Given the description of an element on the screen output the (x, y) to click on. 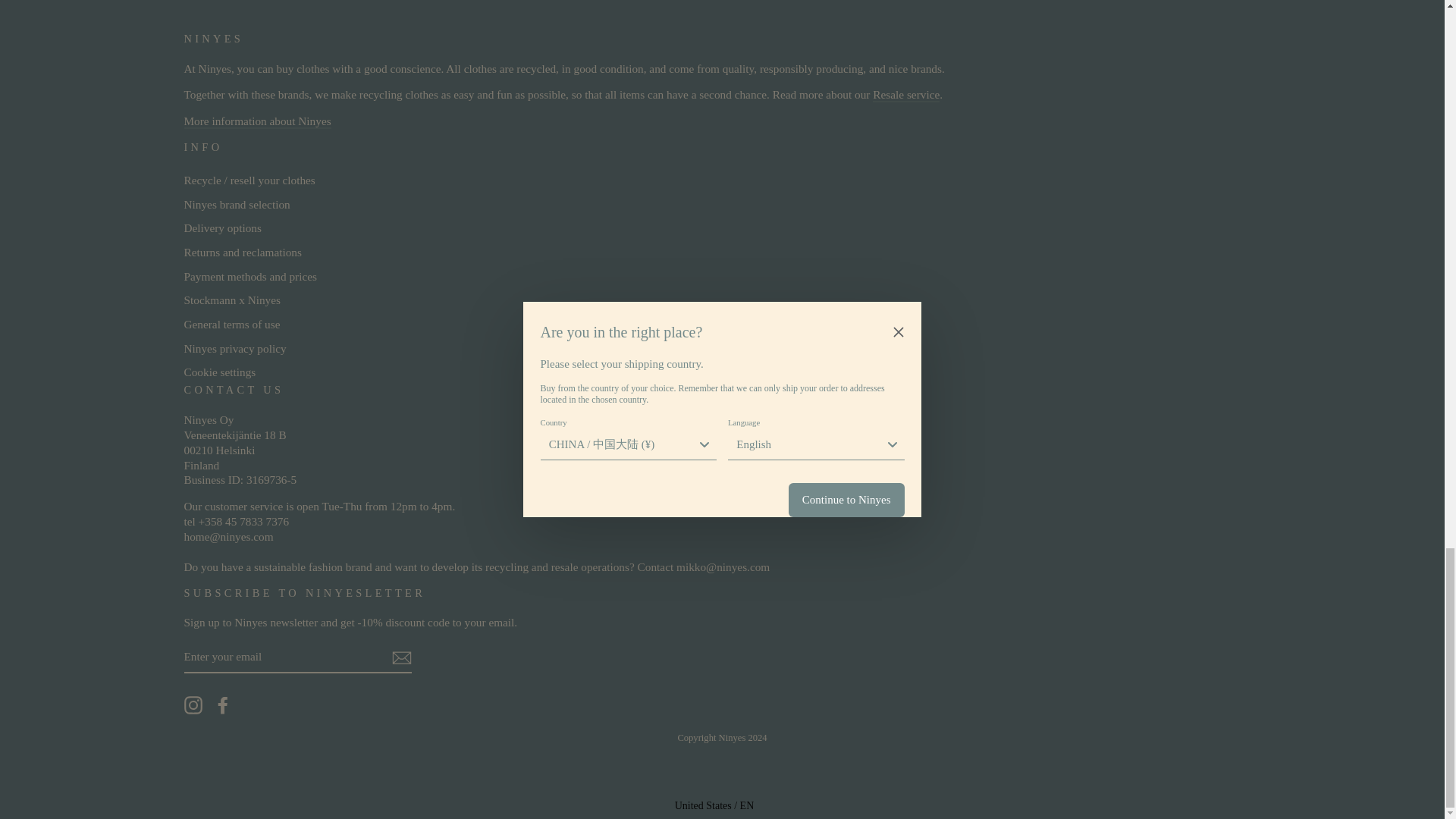
About us (256, 121)
Ninyes on Instagram (192, 705)
Ninyes on Facebook (222, 705)
Resale program (905, 94)
